Given the description of an element on the screen output the (x, y) to click on. 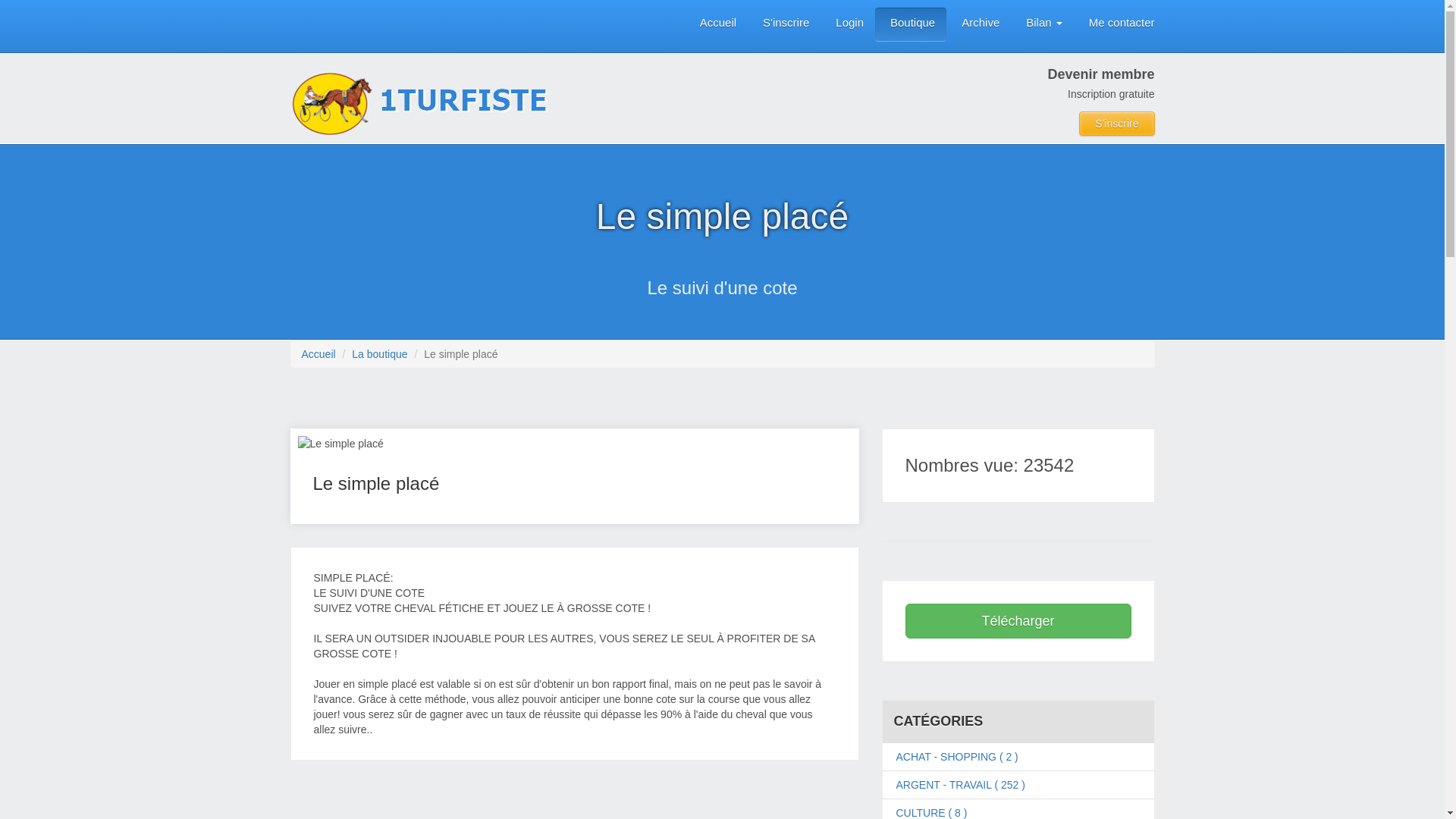
ACHAT - SHOPPING ( 2 ) Element type: text (957, 756)
Login Element type: text (847, 24)
Archive Element type: text (978, 24)
Me contacter Element type: text (1119, 24)
Boutique Element type: text (910, 24)
S'inscrire Element type: text (1116, 123)
La boutique Element type: text (379, 354)
S'inscrire Element type: text (783, 24)
Accueil Element type: text (715, 24)
Accueil Element type: text (318, 354)
Bilan Element type: text (1041, 24)
ARGENT - TRAVAIL ( 252 ) Element type: text (960, 784)
